Given the description of an element on the screen output the (x, y) to click on. 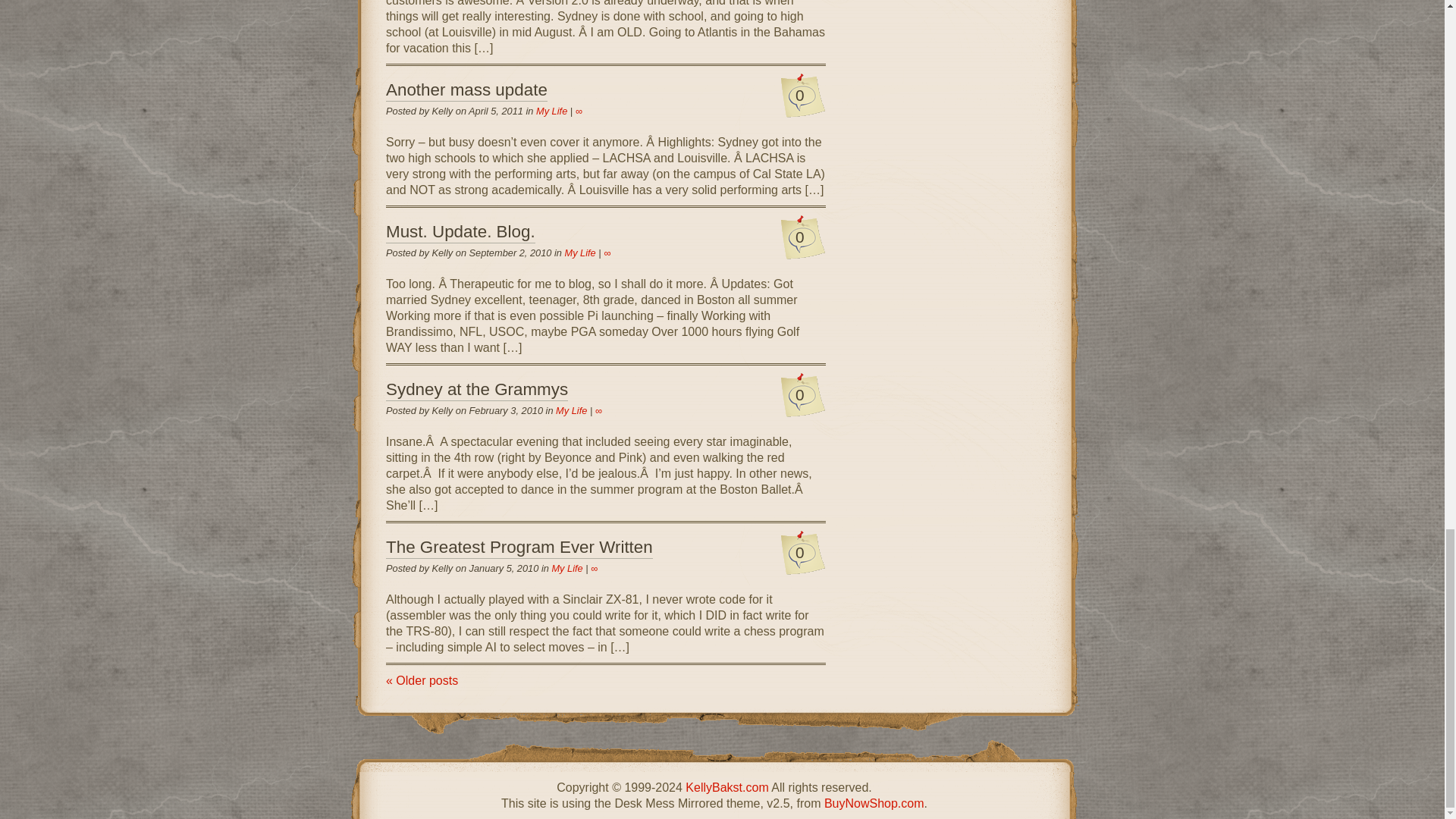
My Life (551, 111)
Another mass update (466, 90)
Permanent Link to Another mass update (466, 90)
Must. Update. Blog. (460, 232)
Sydney at the Grammys (476, 390)
My Life (579, 252)
